Given the description of an element on the screen output the (x, y) to click on. 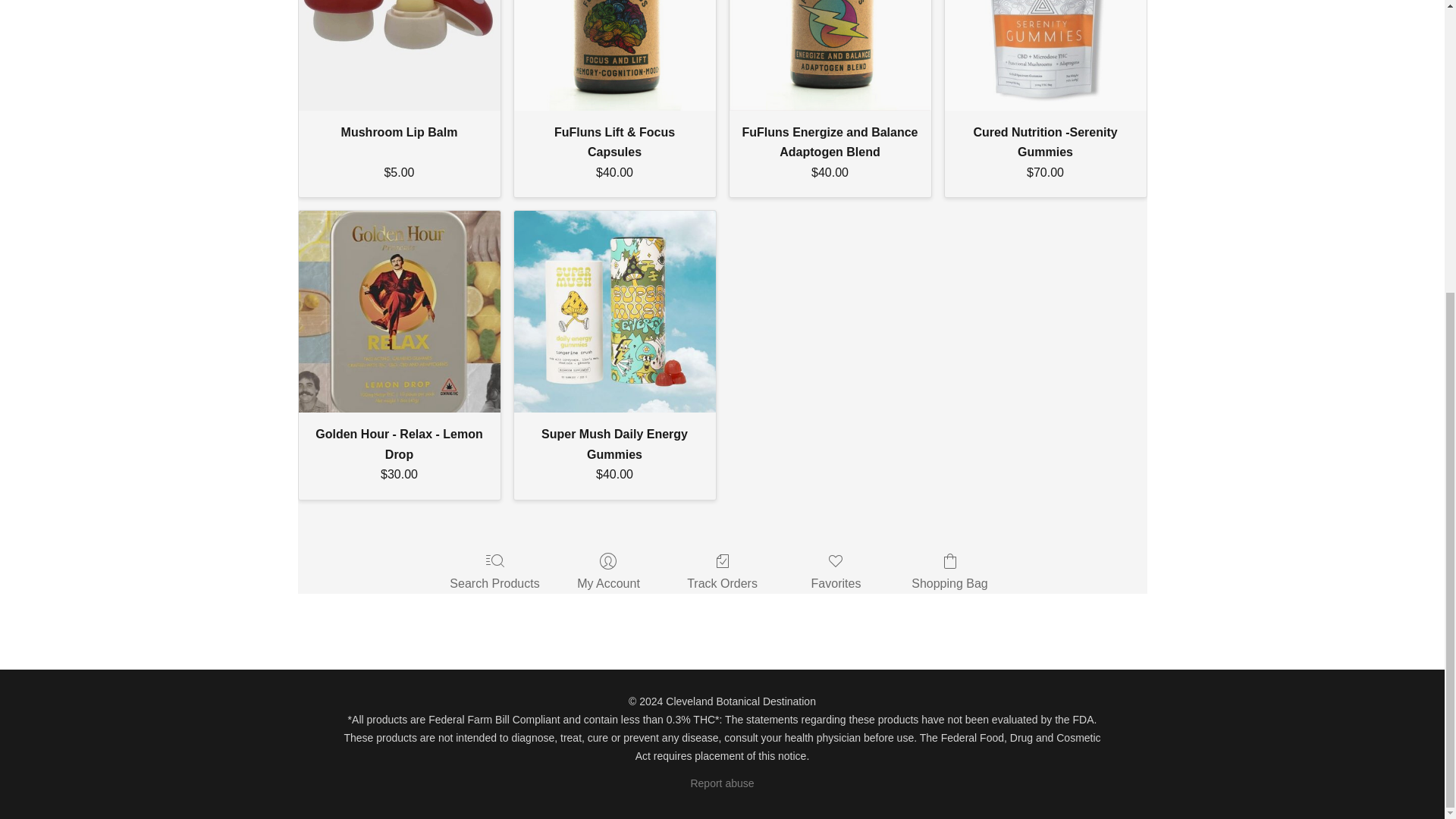
FuFluns Energize and Balance Adaptogen Blend (830, 55)
Super Mush Daily Energy Gummies (614, 311)
Cured Nutrition -Serenity Gummies (1045, 55)
Mushroom Lip Balm (399, 132)
FuFluns Energize and Balance Adaptogen Blend (829, 55)
Mushroom Lip Balm (399, 55)
Golden Hour - Relax - Lemon Drop (399, 311)
